Given the description of an element on the screen output the (x, y) to click on. 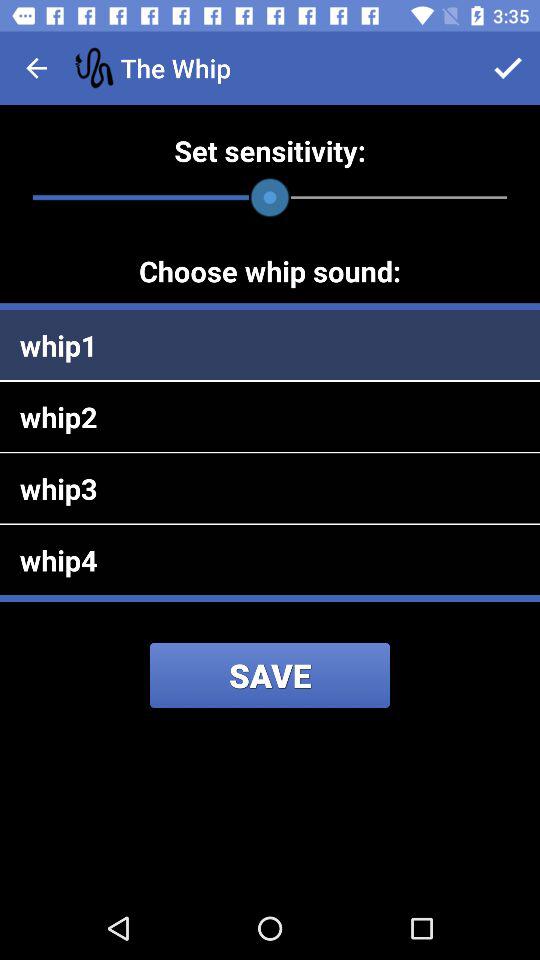
launch save icon (269, 675)
